Given the description of an element on the screen output the (x, y) to click on. 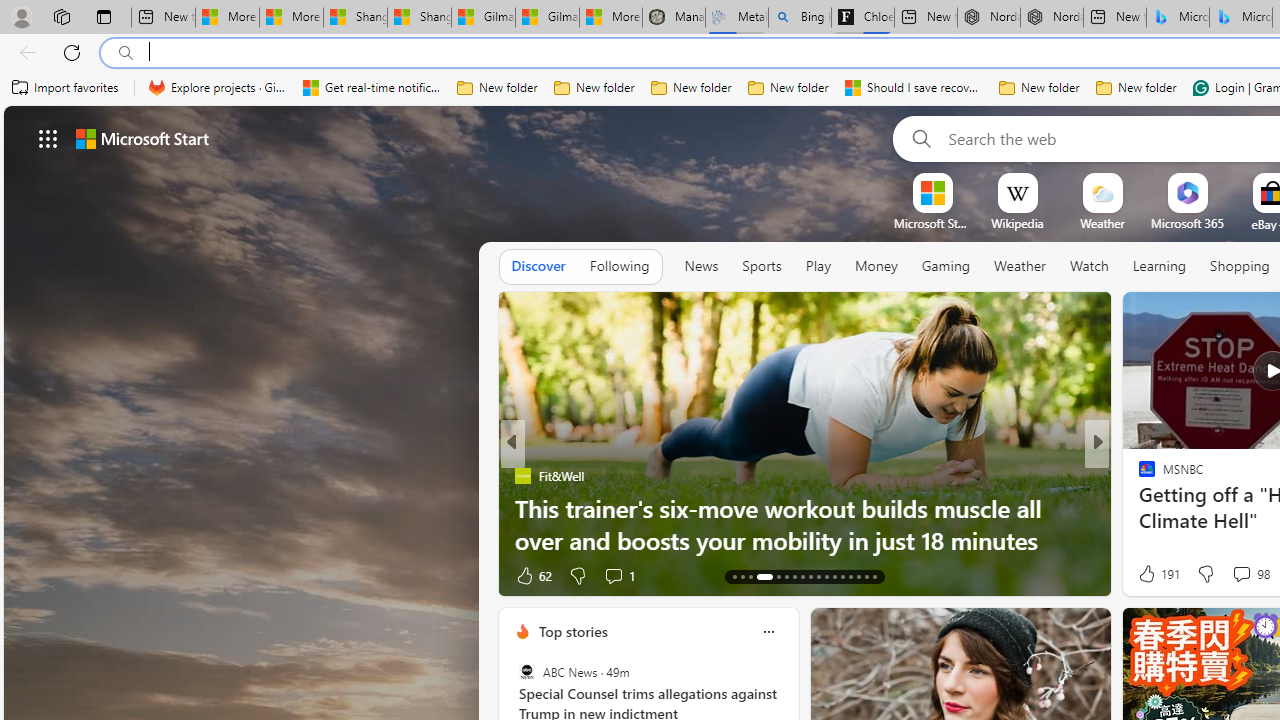
ETNT Mind+Body (1138, 475)
328 Like (1151, 574)
AutomationID: tab-14 (742, 576)
View comments 4 Comment (1229, 575)
29 Like (1149, 574)
View comments 56 Comment (1244, 574)
View comments 3 Comment (1234, 575)
View comments 3 Comment (1241, 574)
These Invasive Reptiles Are Taking Over California (804, 539)
Earth (1138, 475)
